Given the description of an element on the screen output the (x, y) to click on. 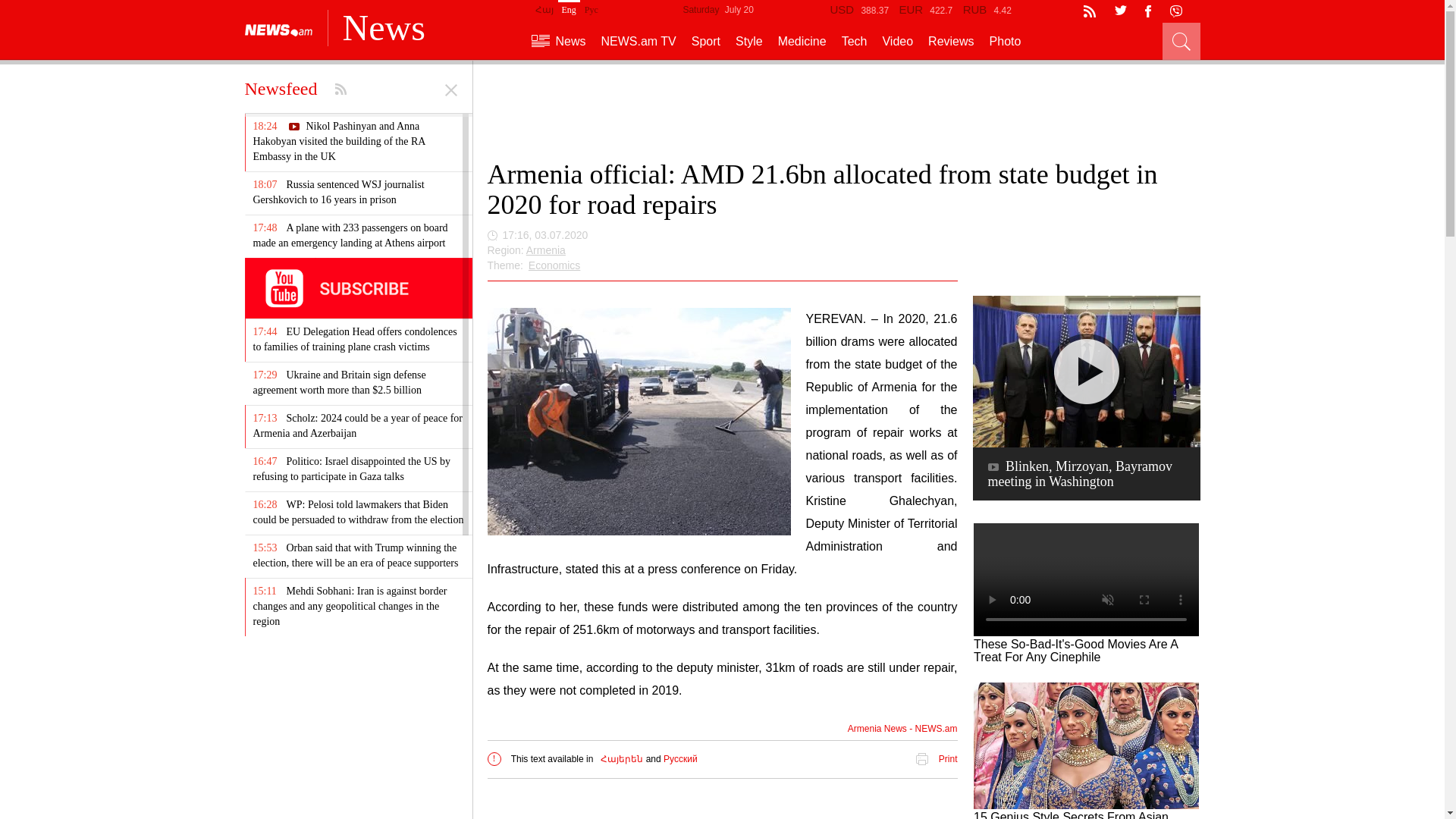
Photo (1006, 41)
Video (897, 41)
Medicine (802, 41)
Eng (568, 8)
Reviews (951, 41)
Insticator Content Engagement Unit (721, 806)
Style (748, 41)
News (558, 41)
Sport (705, 41)
NEWS.am TV (639, 41)
Tech (854, 41)
